Given the description of an element on the screen output the (x, y) to click on. 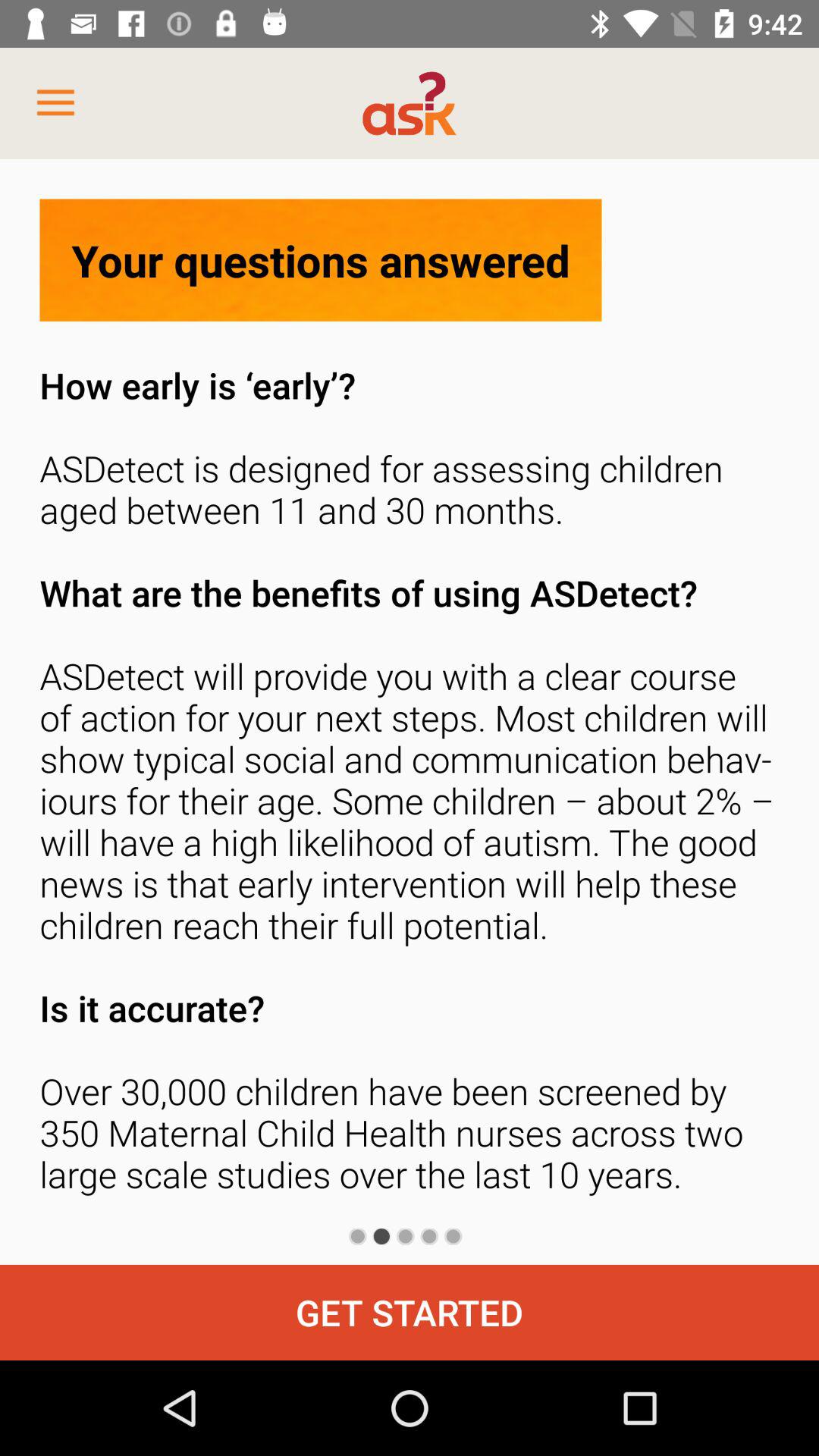
select icon at the center (409, 784)
